Given the description of an element on the screen output the (x, y) to click on. 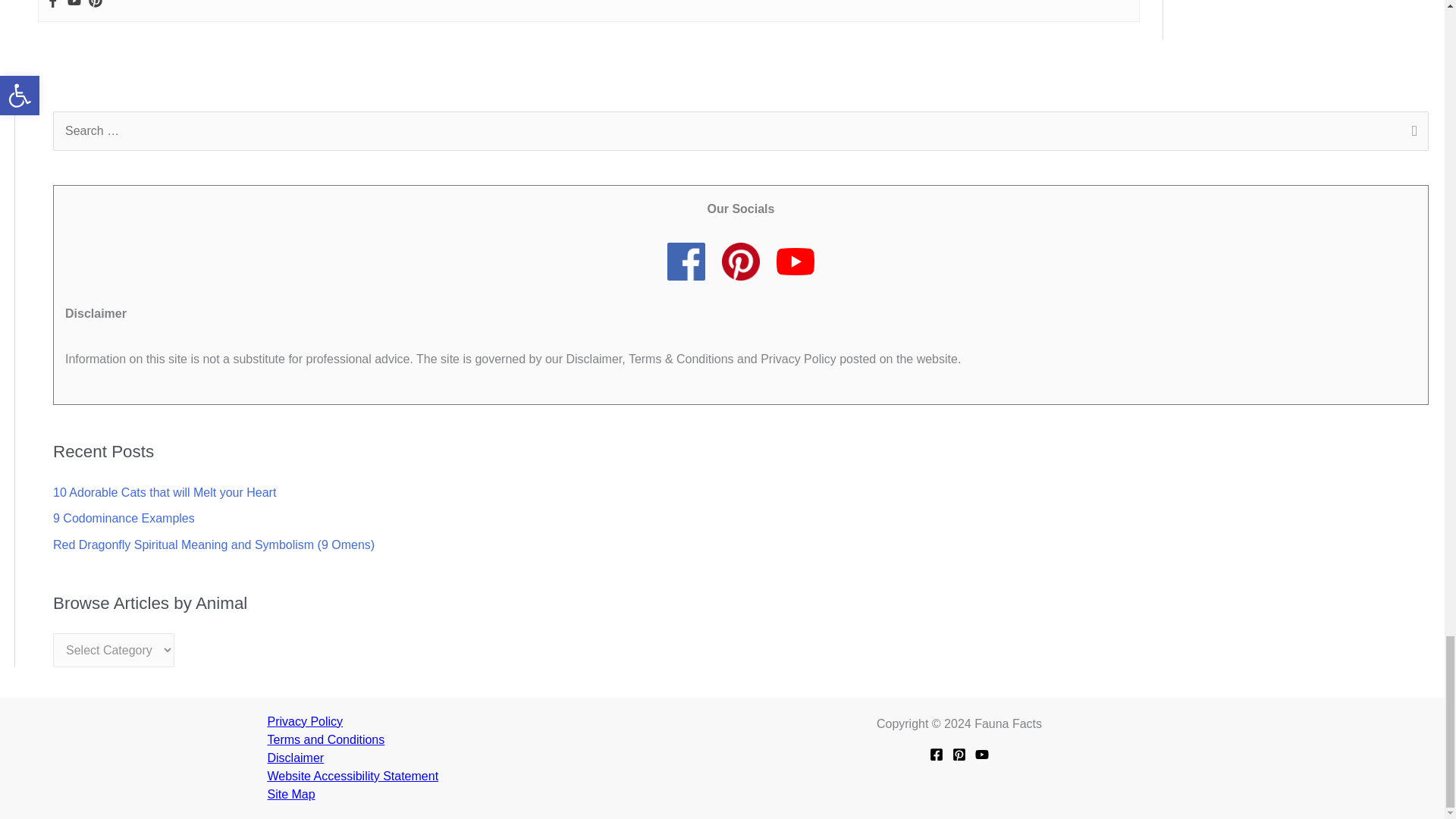
Facebook (52, 4)
Youtube (73, 4)
Search (1411, 132)
Pinterest (94, 4)
Search (1411, 132)
